Given the description of an element on the screen output the (x, y) to click on. 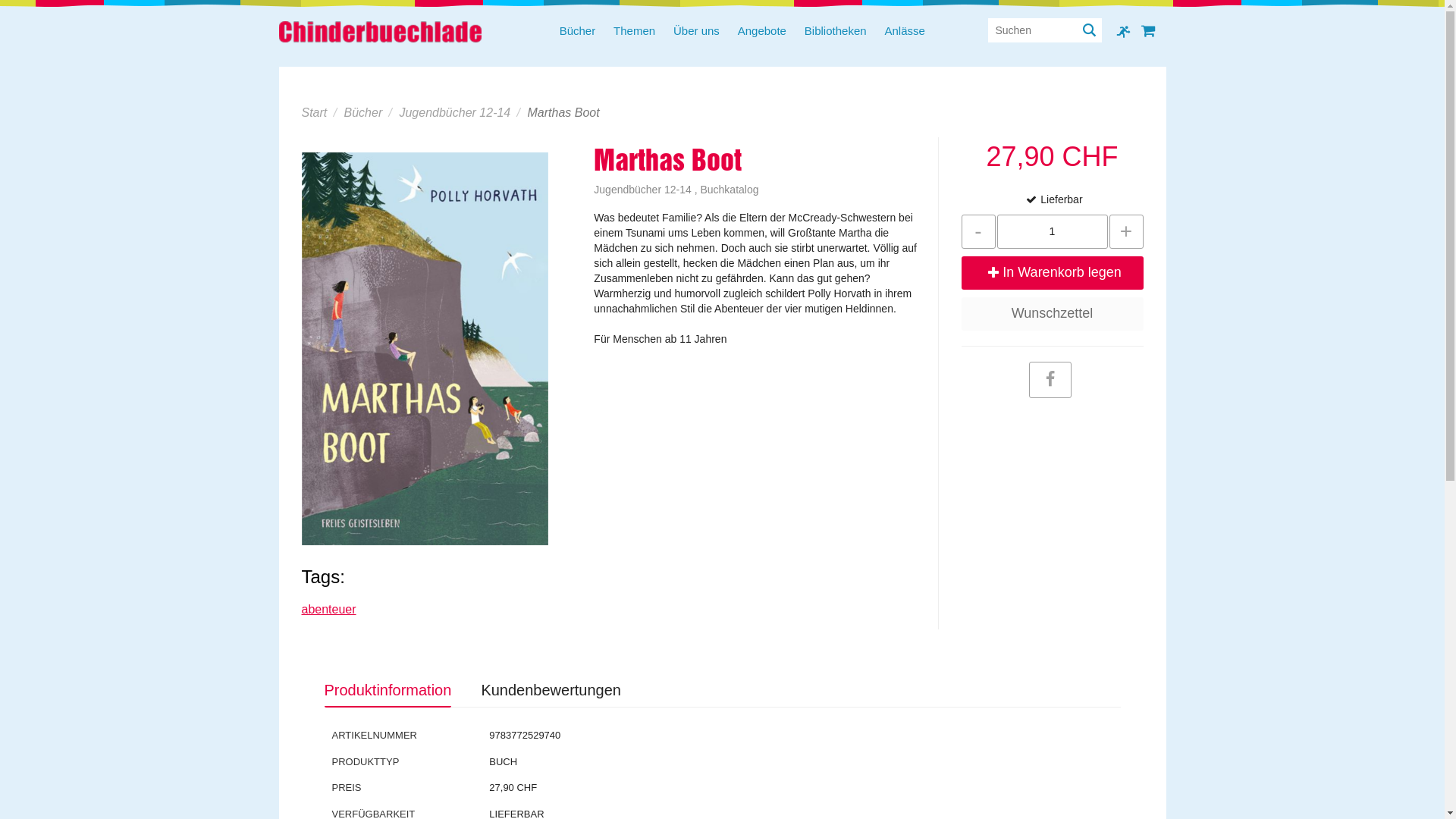
Suchen Element type: text (1088, 30)
abenteuer Element type: text (328, 608)
Angebote Element type: text (761, 31)
Kundenbewertungen Element type: text (550, 690)
X Element type: text (1000, 30)
Bibliotheken Element type: text (835, 31)
Themen Element type: text (633, 31)
Wunschzettel Element type: text (1052, 313)
Buchkatalog Element type: text (728, 189)
In Warenkorb legen Element type: text (1052, 272)
Start Element type: text (314, 112)
Produktinformation Element type: text (387, 690)
